Given the description of an element on the screen output the (x, y) to click on. 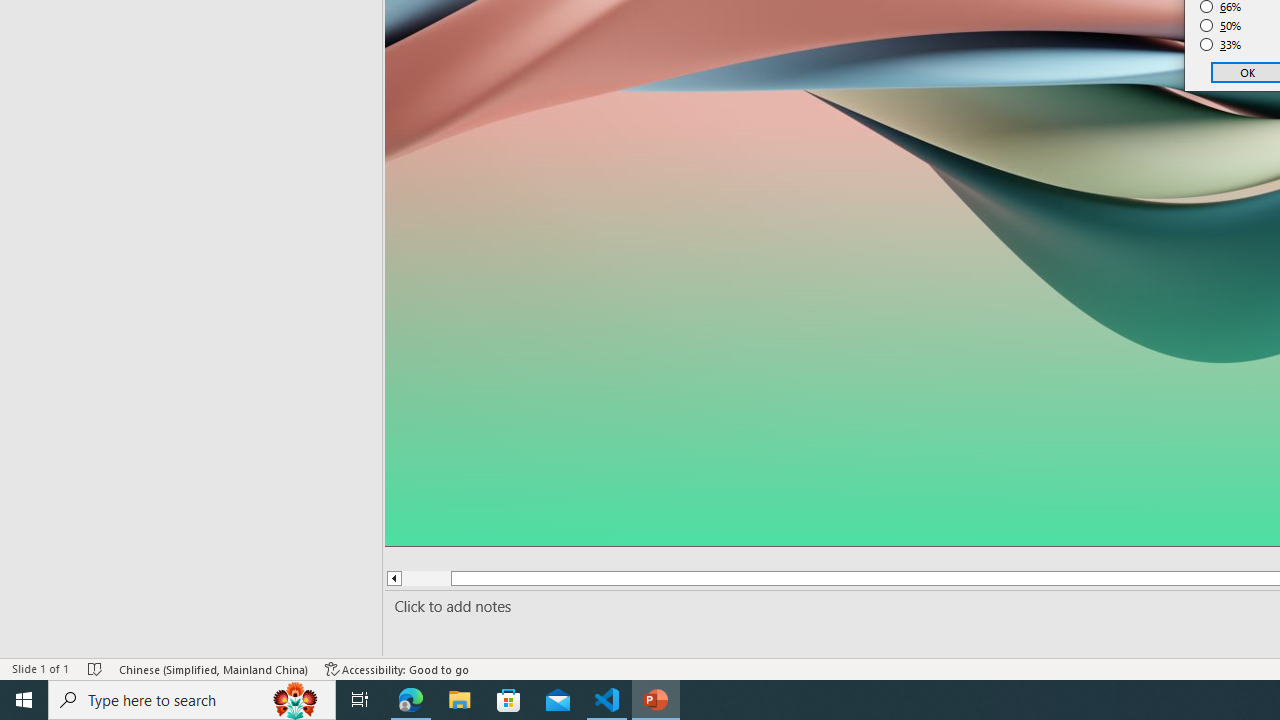
33% (1221, 44)
Accessibility Checker Accessibility: Good to go (397, 668)
50% (1221, 25)
